Given the description of an element on the screen output the (x, y) to click on. 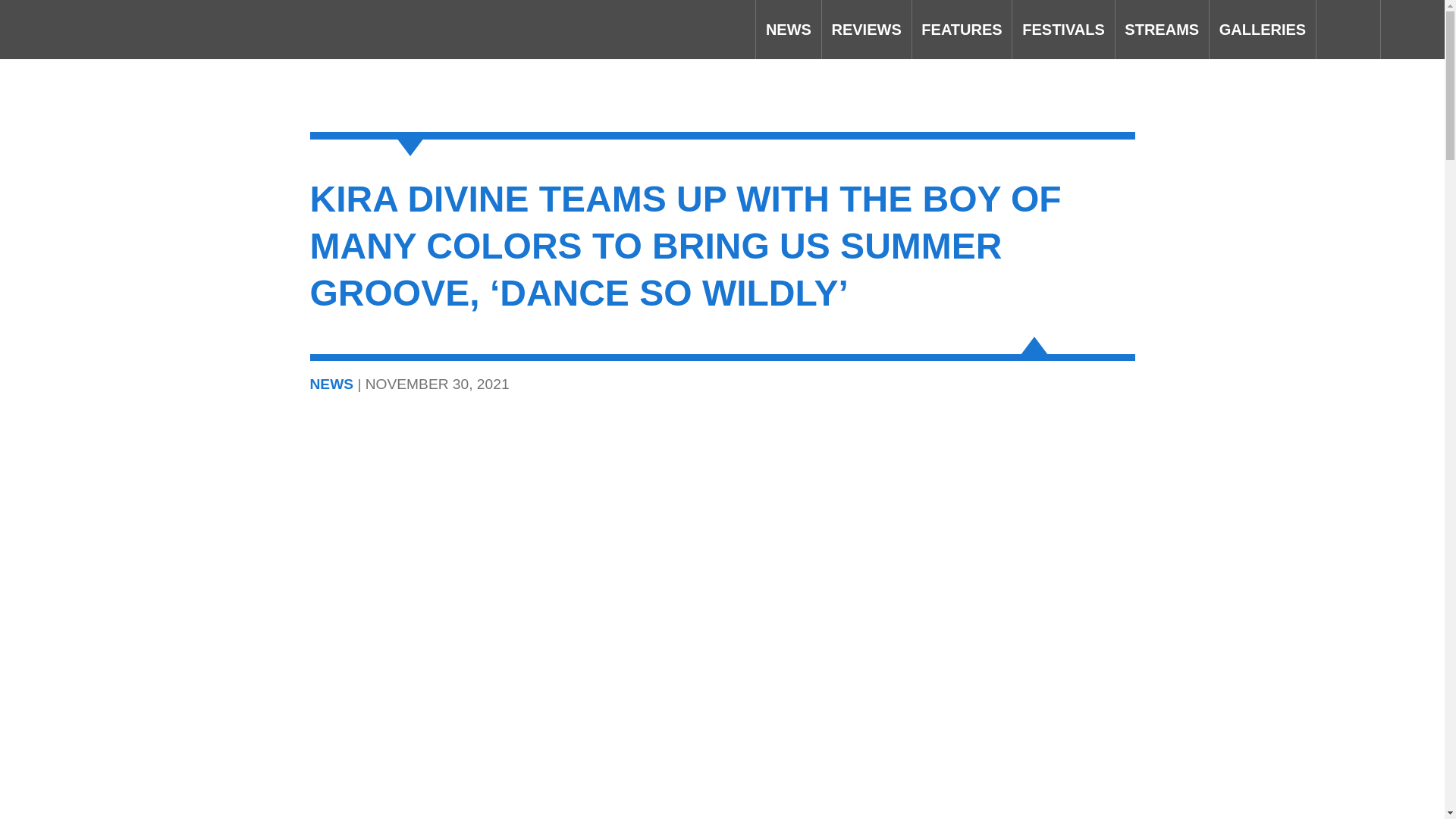
NEWS (788, 29)
FESTIVALS (1062, 29)
GALLERIES (1262, 29)
REVIEWS (866, 29)
STREAMS (1161, 29)
Search (1348, 29)
FEATURES (961, 29)
